Given the description of an element on the screen output the (x, y) to click on. 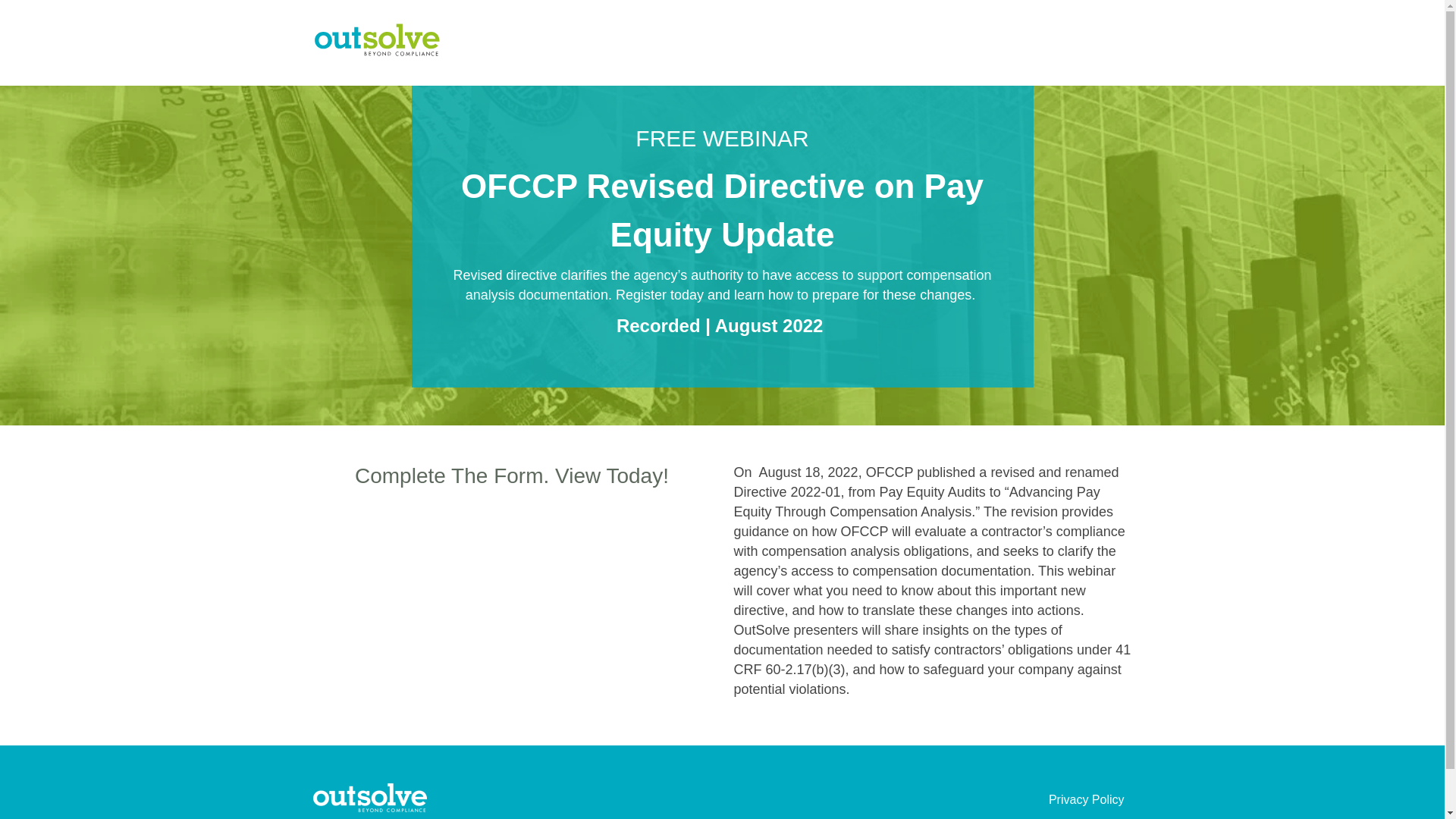
Privacy Policy (1086, 798)
White Only (369, 797)
